Given the description of an element on the screen output the (x, y) to click on. 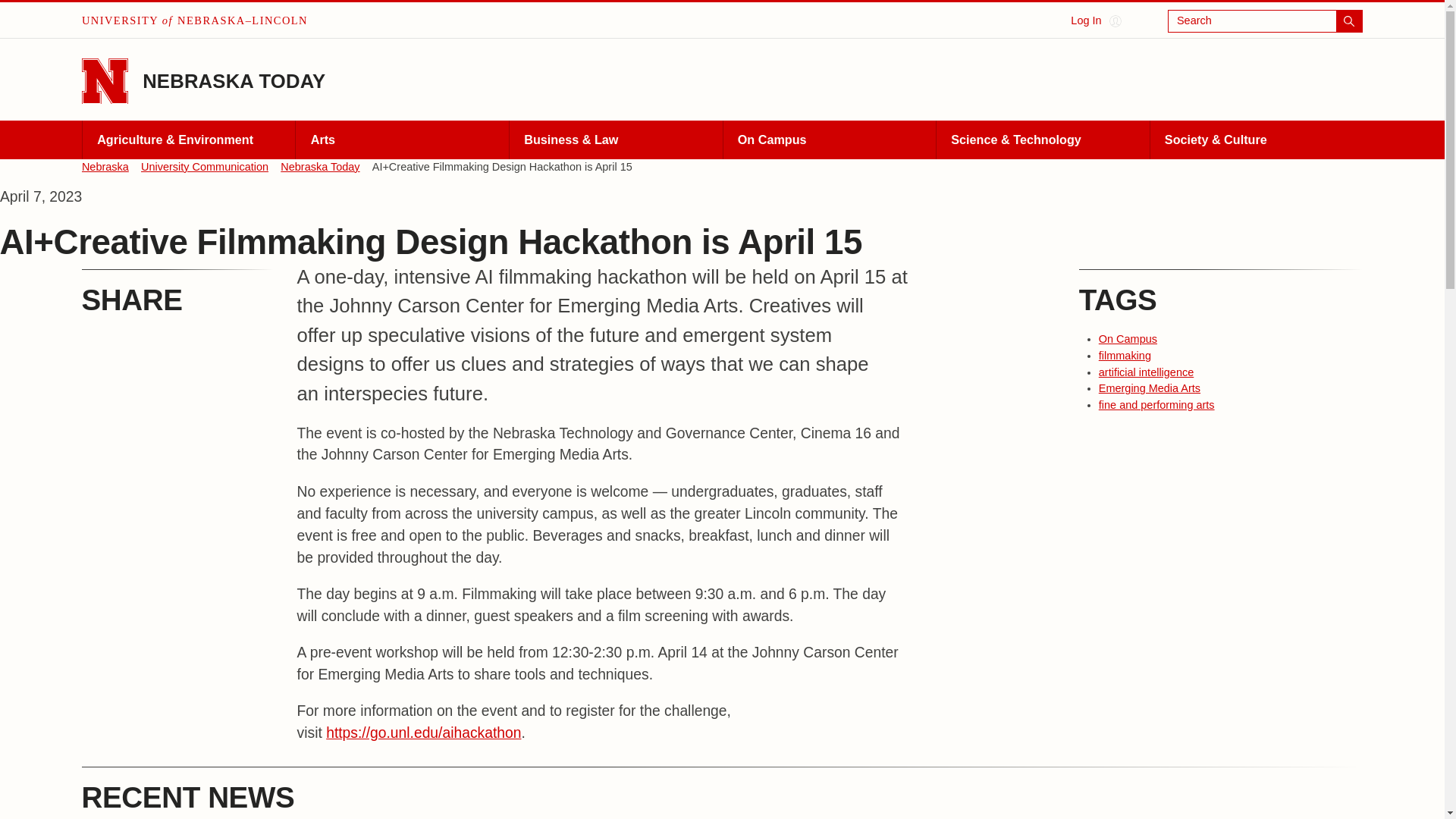
Search (1264, 21)
Arts (401, 139)
Nebraska Today (320, 167)
On Campus (1128, 338)
Emerging Media Arts (1149, 387)
Log In (1095, 21)
NEBRASKA TODAY (233, 79)
Nebraska (105, 167)
artificial intelligence (1146, 372)
University Communication (204, 167)
